Given the description of an element on the screen output the (x, y) to click on. 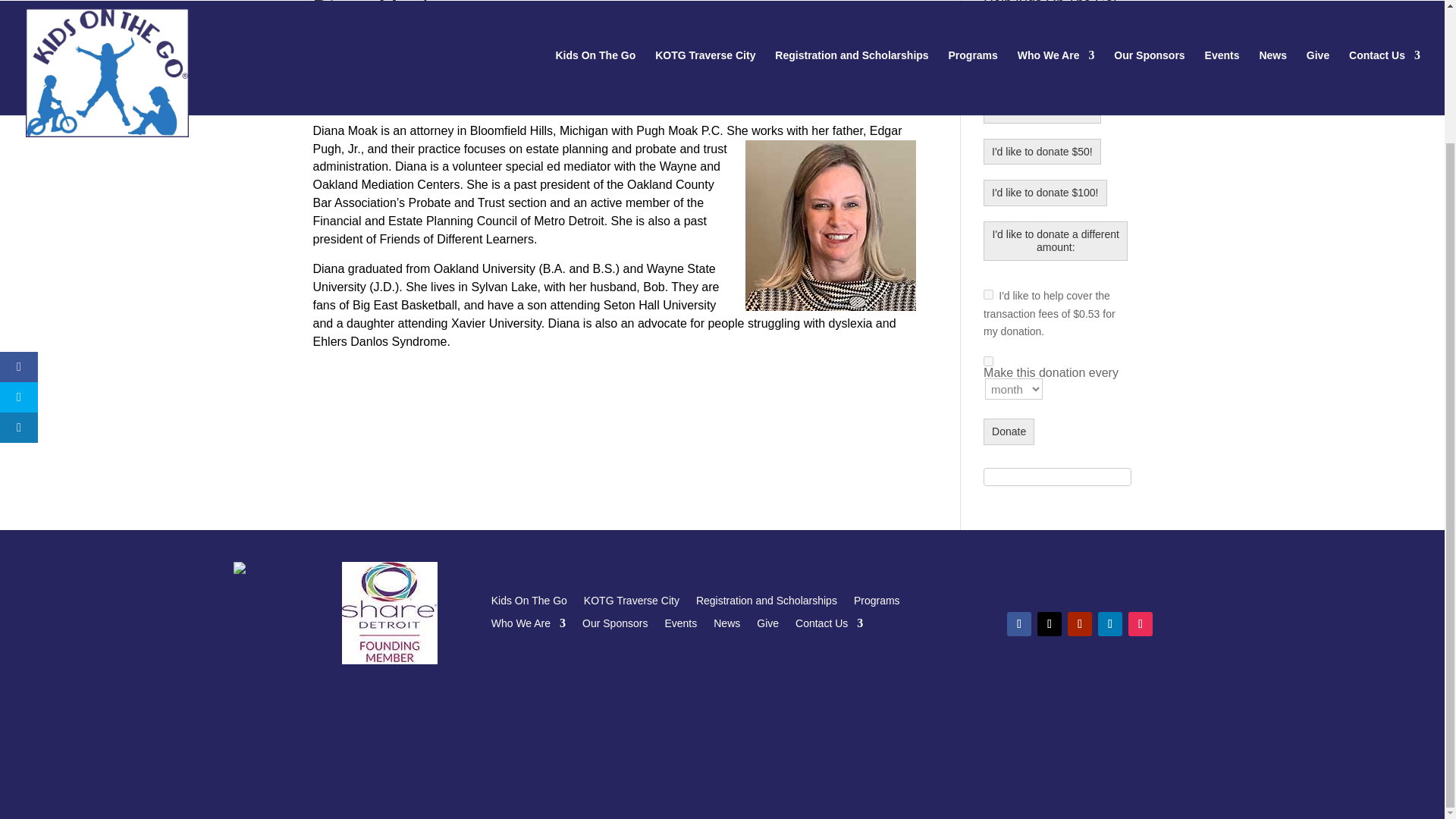
Follow on LinkedIn (1109, 623)
Follow on Instagram (1140, 623)
Follow on Youtube (1079, 623)
Follow on Facebook (1018, 623)
I'd like to donate a different amount: (1055, 241)
Board Member (347, 34)
on (988, 361)
1 (988, 294)
10.00 (1057, 30)
Donate (1008, 431)
